Given the description of an element on the screen output the (x, y) to click on. 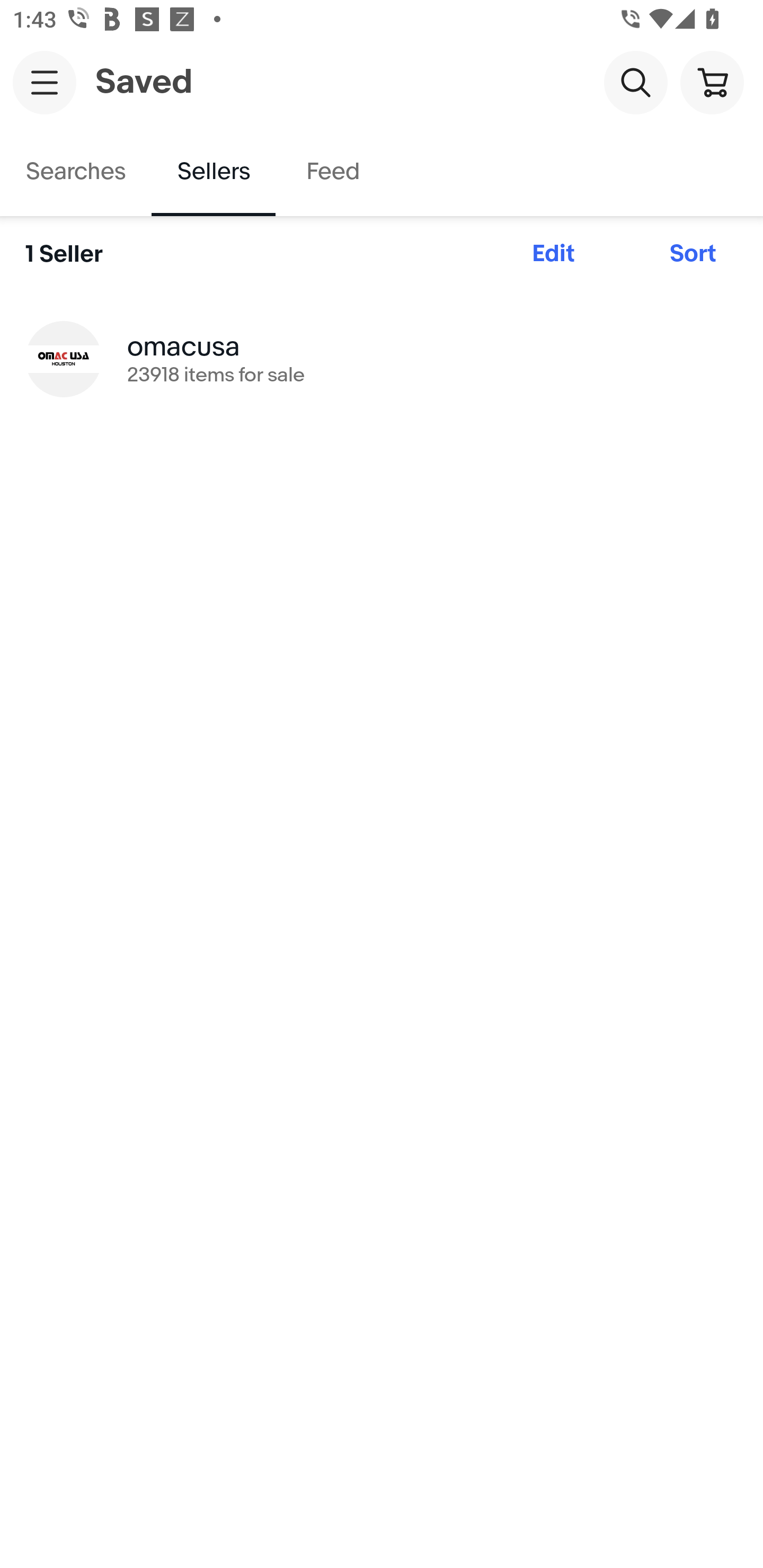
Main navigation, open (44, 82)
Search (635, 81)
Cart button shopping cart (711, 81)
Searches (75, 171)
Feed (332, 171)
Edit (552, 253)
Sort (693, 253)
omacusa 23918 items for sale (381, 357)
